Given the description of an element on the screen output the (x, y) to click on. 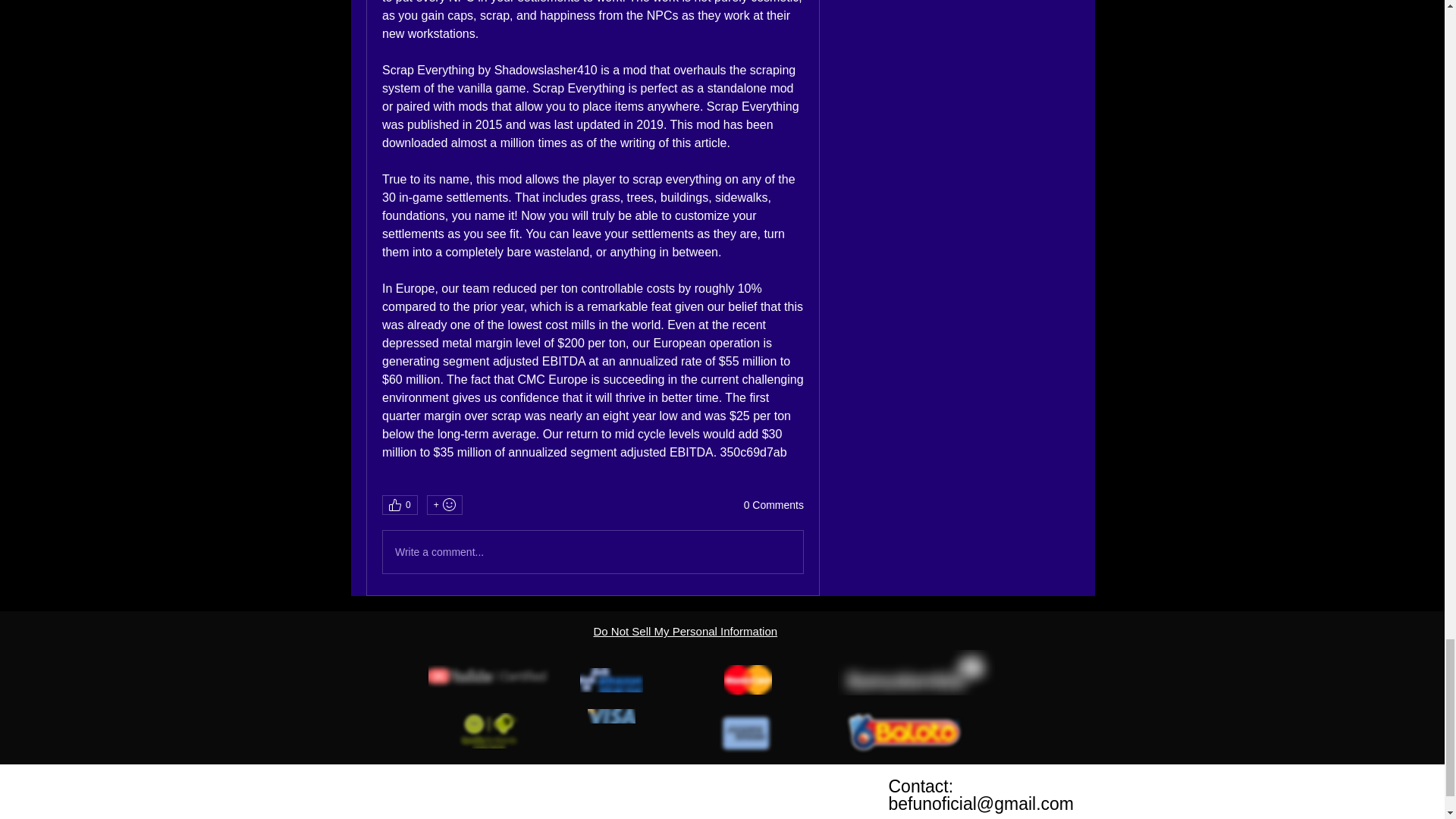
0 Comments (773, 505)
Do Not Sell My Personal Information (684, 631)
Write a comment... (592, 551)
